Given the description of an element on the screen output the (x, y) to click on. 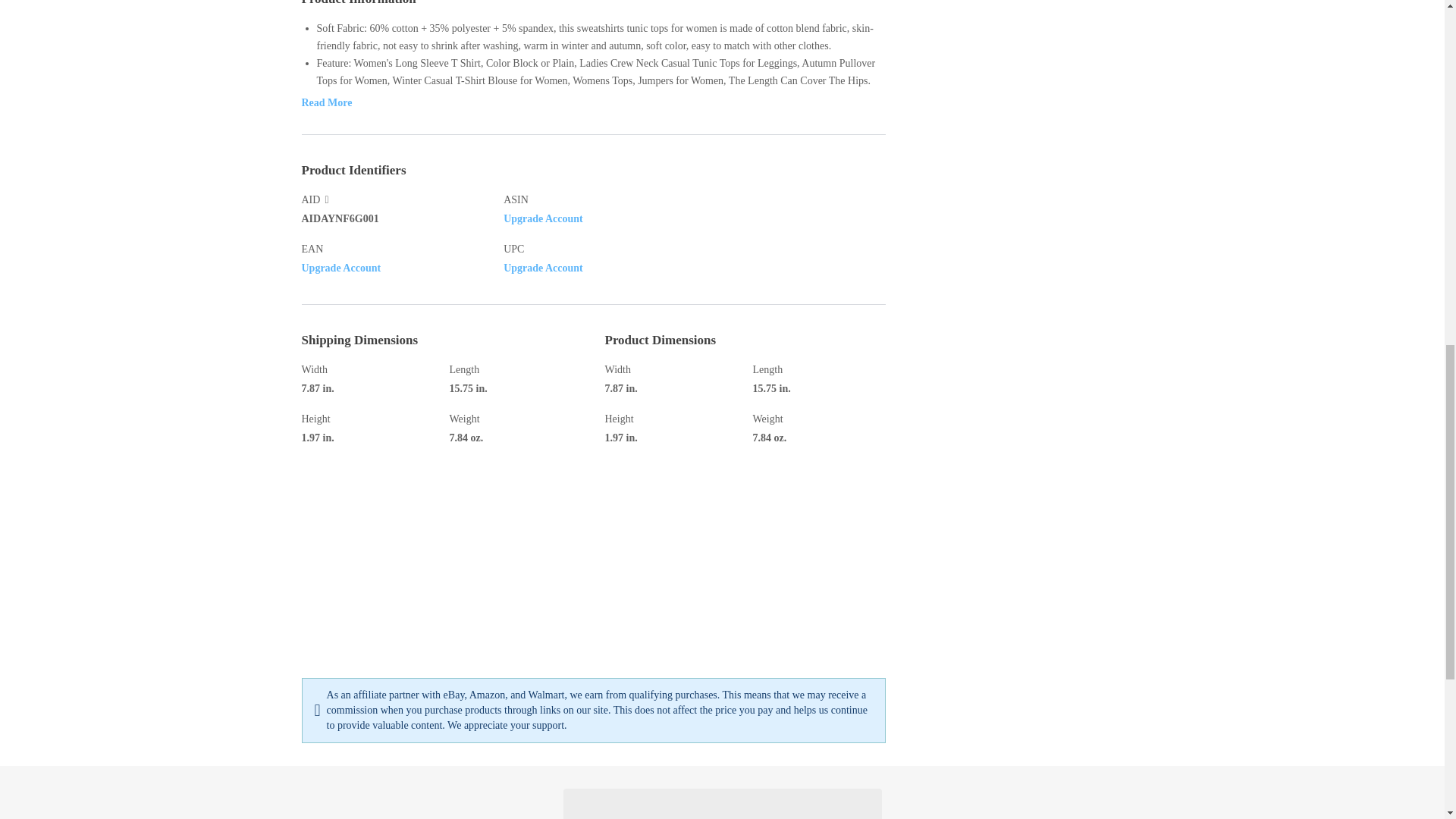
Upgrade Account (341, 267)
Upgrade Account (543, 267)
Upgrade Account (543, 217)
